Given the description of an element on the screen output the (x, y) to click on. 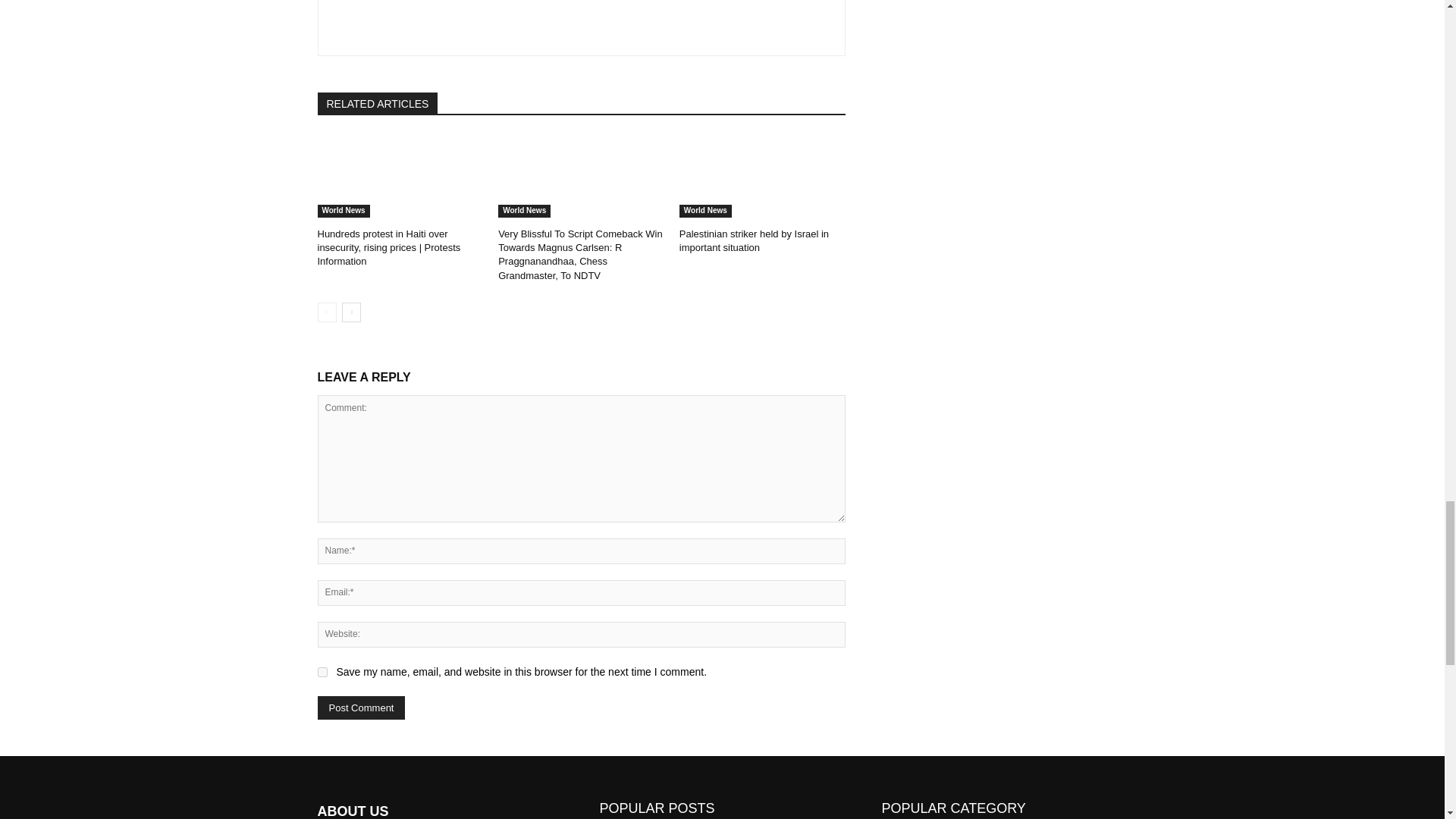
Post Comment (360, 707)
yes (321, 672)
